Given the description of an element on the screen output the (x, y) to click on. 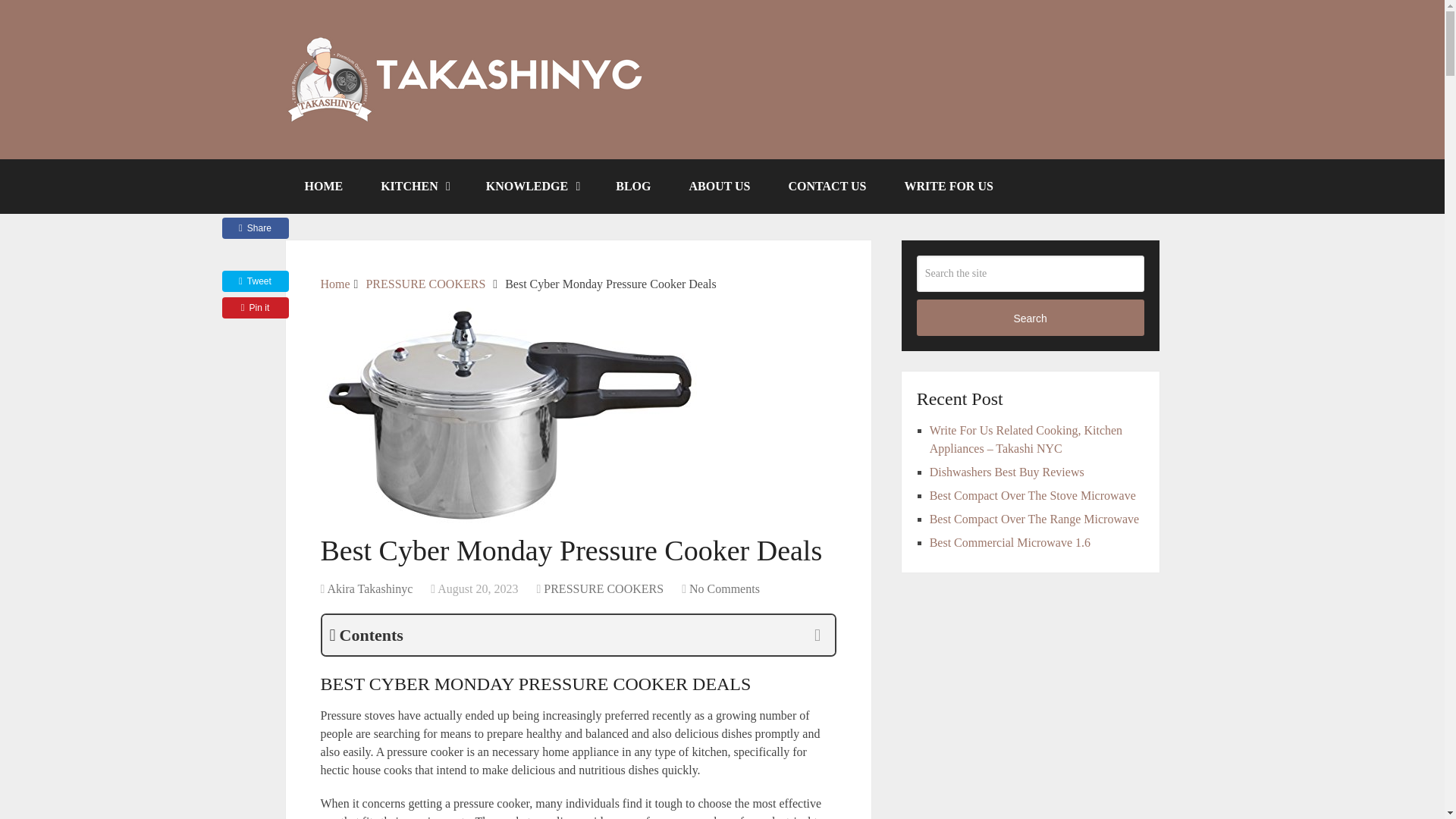
View all posts in PRESSURE COOKERS (603, 588)
CONTACT US (827, 185)
Posts by Akira Takashinyc (369, 588)
KNOWLEDGE (531, 185)
KITCHEN (414, 185)
Home (334, 283)
PRESSURE COOKERS (603, 588)
BLOG (632, 185)
WRITE FOR US (948, 185)
No Comments (724, 588)
HOME (323, 185)
PRESSURE COOKERS (424, 283)
ABOUT US (718, 185)
Akira Takashinyc (369, 588)
